Given the description of an element on the screen output the (x, y) to click on. 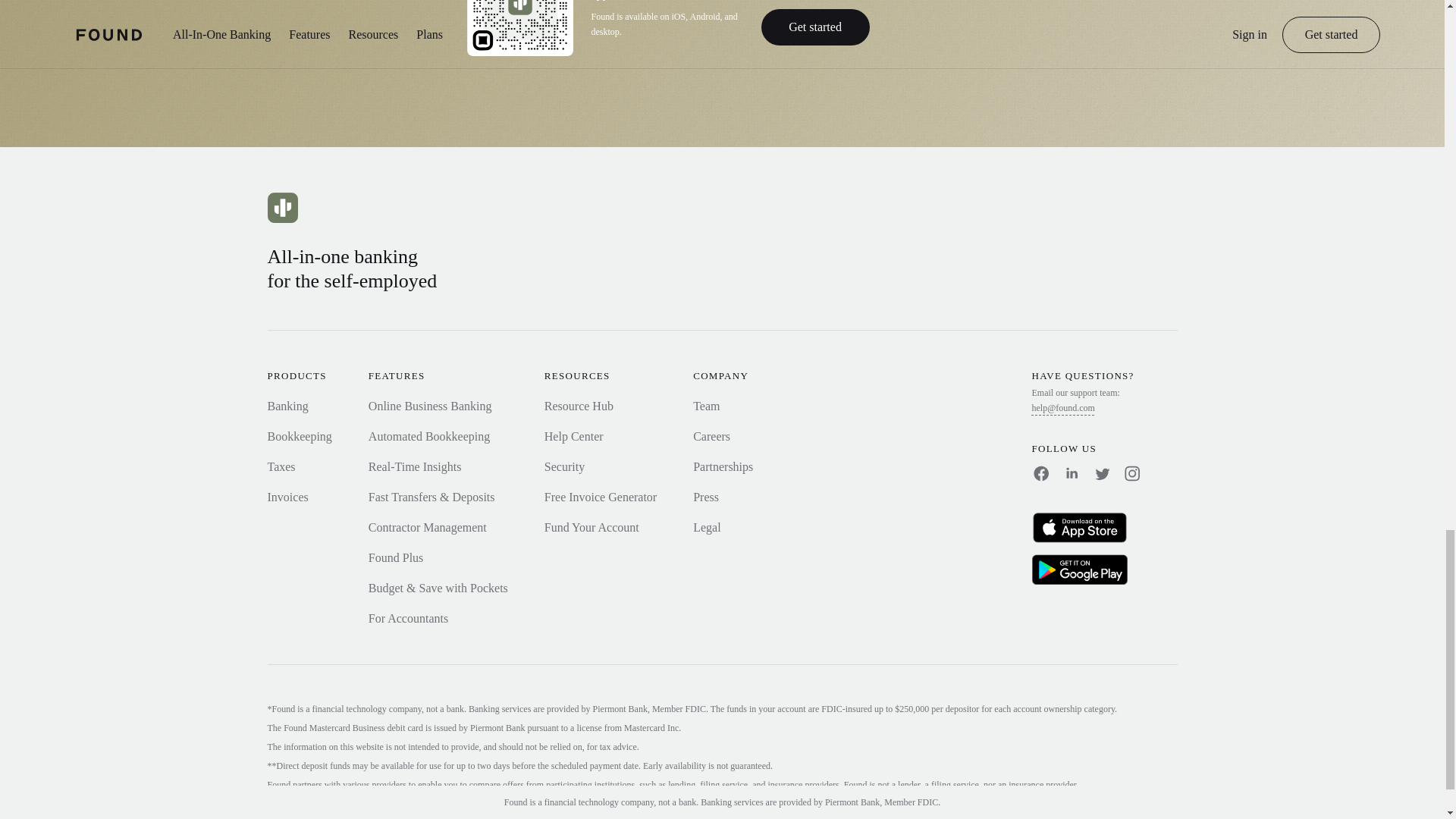
Fund Your Account (591, 526)
Invoices (286, 496)
Taxes (280, 466)
Free Invoice Generator (600, 496)
Team (706, 405)
Get started (815, 27)
Press (706, 496)
Found Plus (395, 557)
Legal (706, 526)
Resource Hub (578, 405)
